Given the description of an element on the screen output the (x, y) to click on. 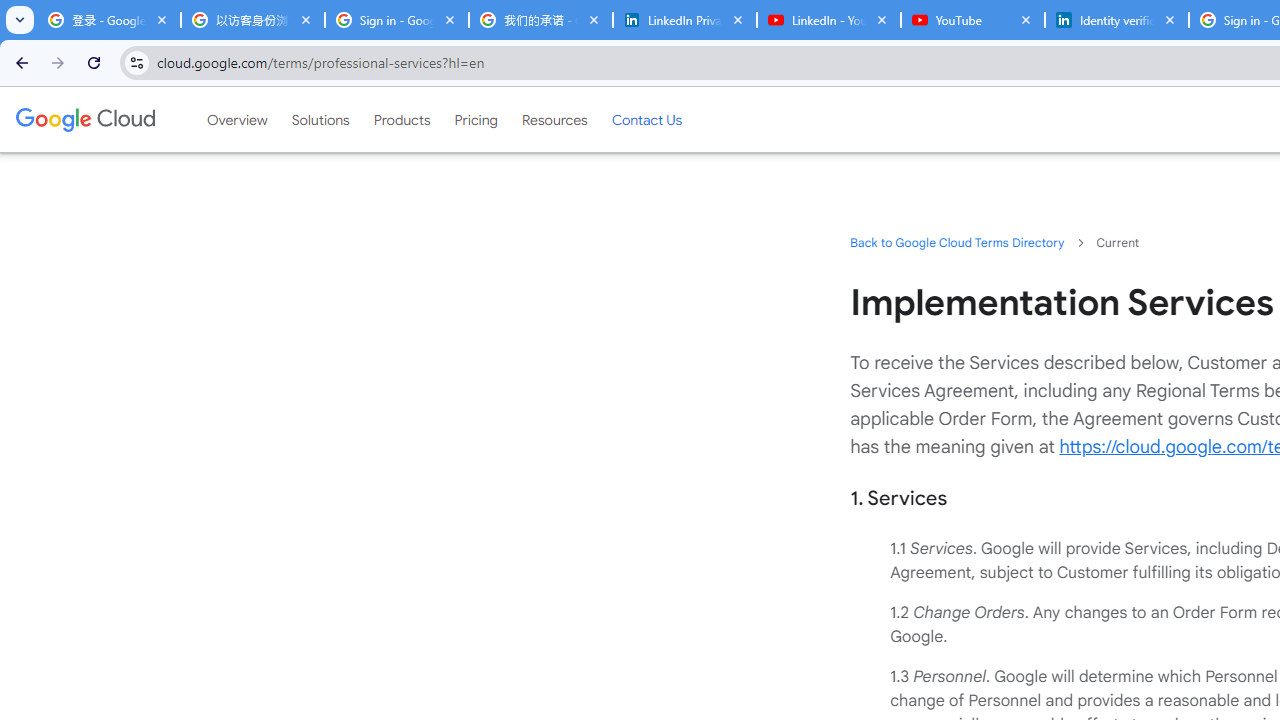
Sign in - Google Accounts (396, 20)
Pricing (476, 119)
LinkedIn Privacy Policy (684, 20)
LinkedIn - YouTube (828, 20)
Solutions (320, 119)
Back to Google Cloud Terms Directory (956, 241)
